Given the description of an element on the screen output the (x, y) to click on. 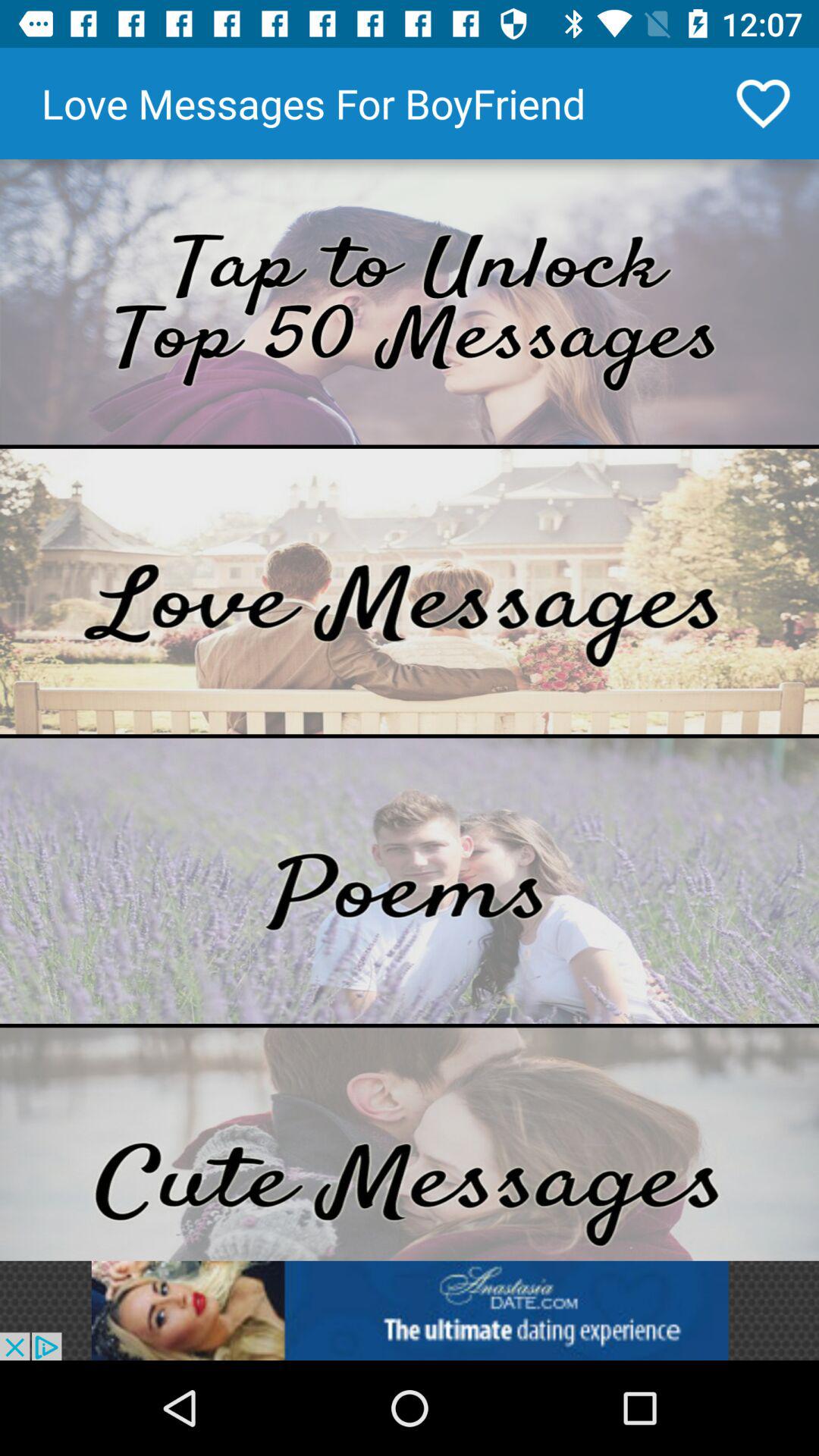
select poems (409, 880)
